Given the description of an element on the screen output the (x, y) to click on. 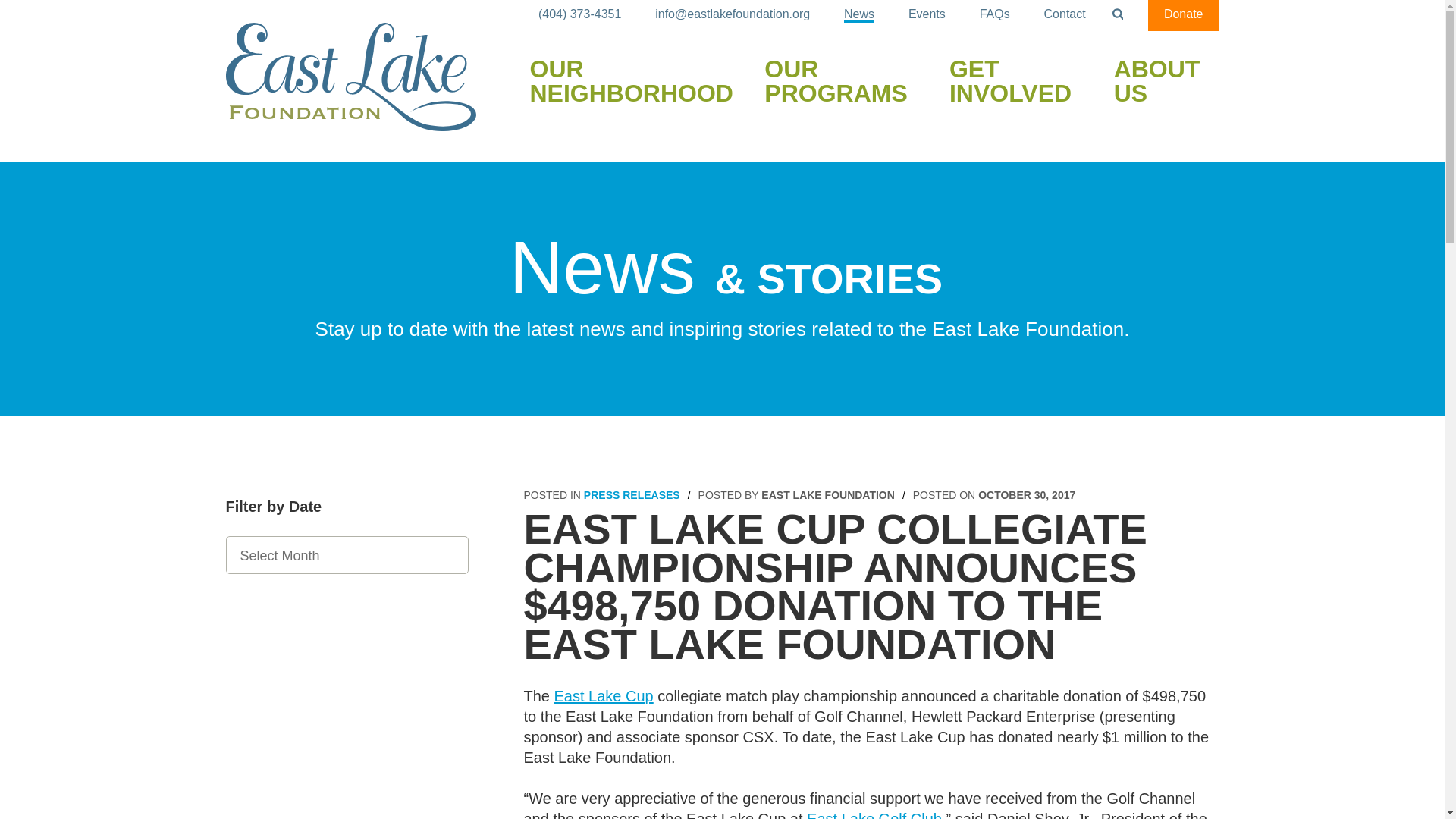
East Lake Cup (603, 695)
ABOUT US (1166, 82)
Events (926, 14)
East Lake Foundation (350, 76)
OUR PROGRAMS (847, 82)
Contact (1064, 14)
OUR NEIGHBORHOOD (639, 82)
Donate (1184, 15)
News (859, 14)
GET INVOLVED (1023, 82)
